Given the description of an element on the screen output the (x, y) to click on. 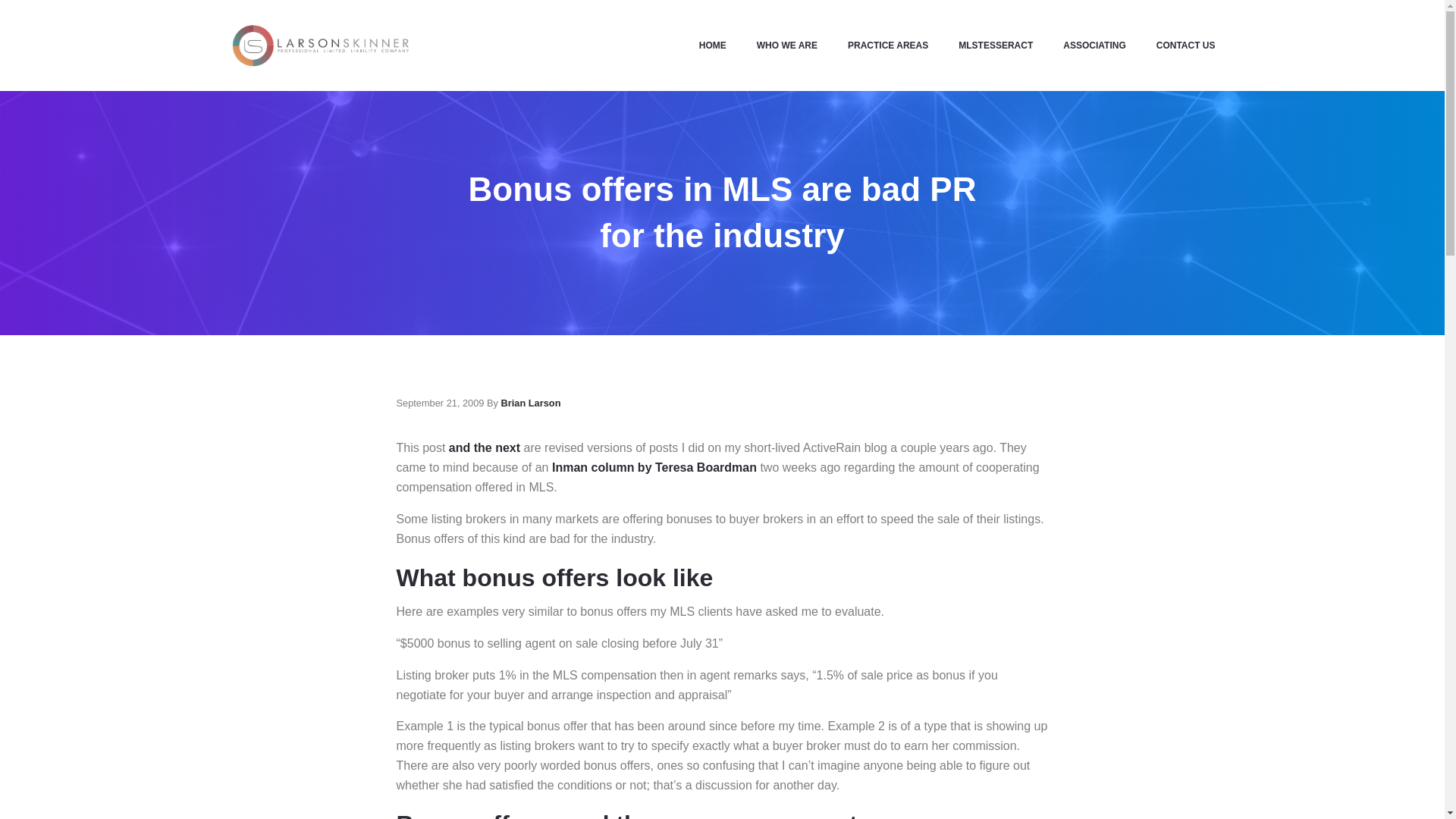
MLSTESSERACT (995, 45)
and the next (483, 447)
CONTACT US (1178, 45)
WHO WE ARE (786, 45)
Inman column by Teresa Boardman (654, 467)
HOME (712, 45)
PRACTICE AREAS (887, 45)
ASSOCIATING (1094, 45)
Brian Larson (530, 402)
